Given the description of an element on the screen output the (x, y) to click on. 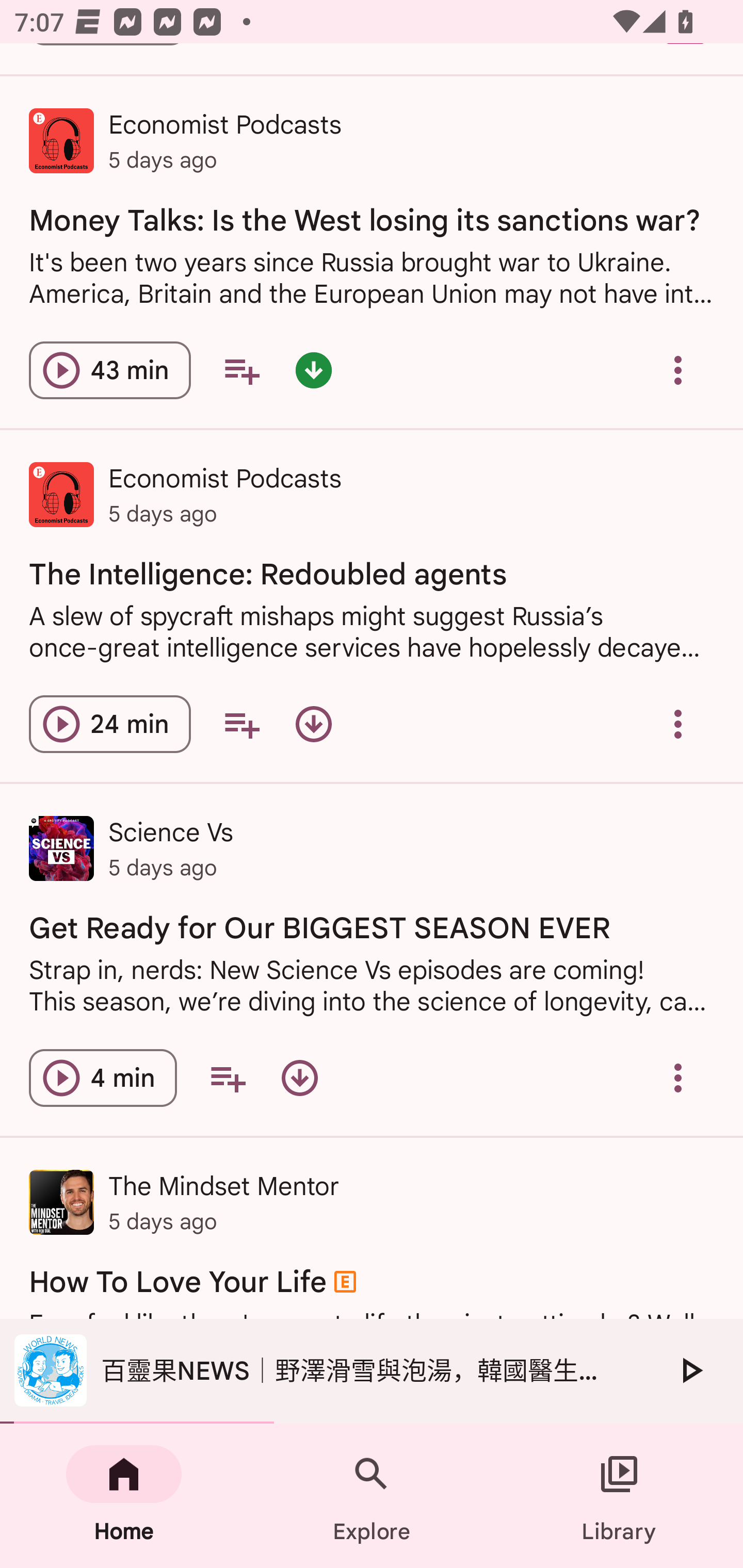
Add to your queue (241, 370)
Episode downloaded - double tap for options 0.0 (313, 370)
Overflow menu (677, 370)
Add to your queue (241, 723)
Download episode (313, 723)
Overflow menu (677, 723)
Add to your queue (227, 1077)
Download episode (299, 1077)
Overflow menu (677, 1077)
Play (690, 1370)
Explore (371, 1495)
Library (619, 1495)
